Given the description of an element on the screen output the (x, y) to click on. 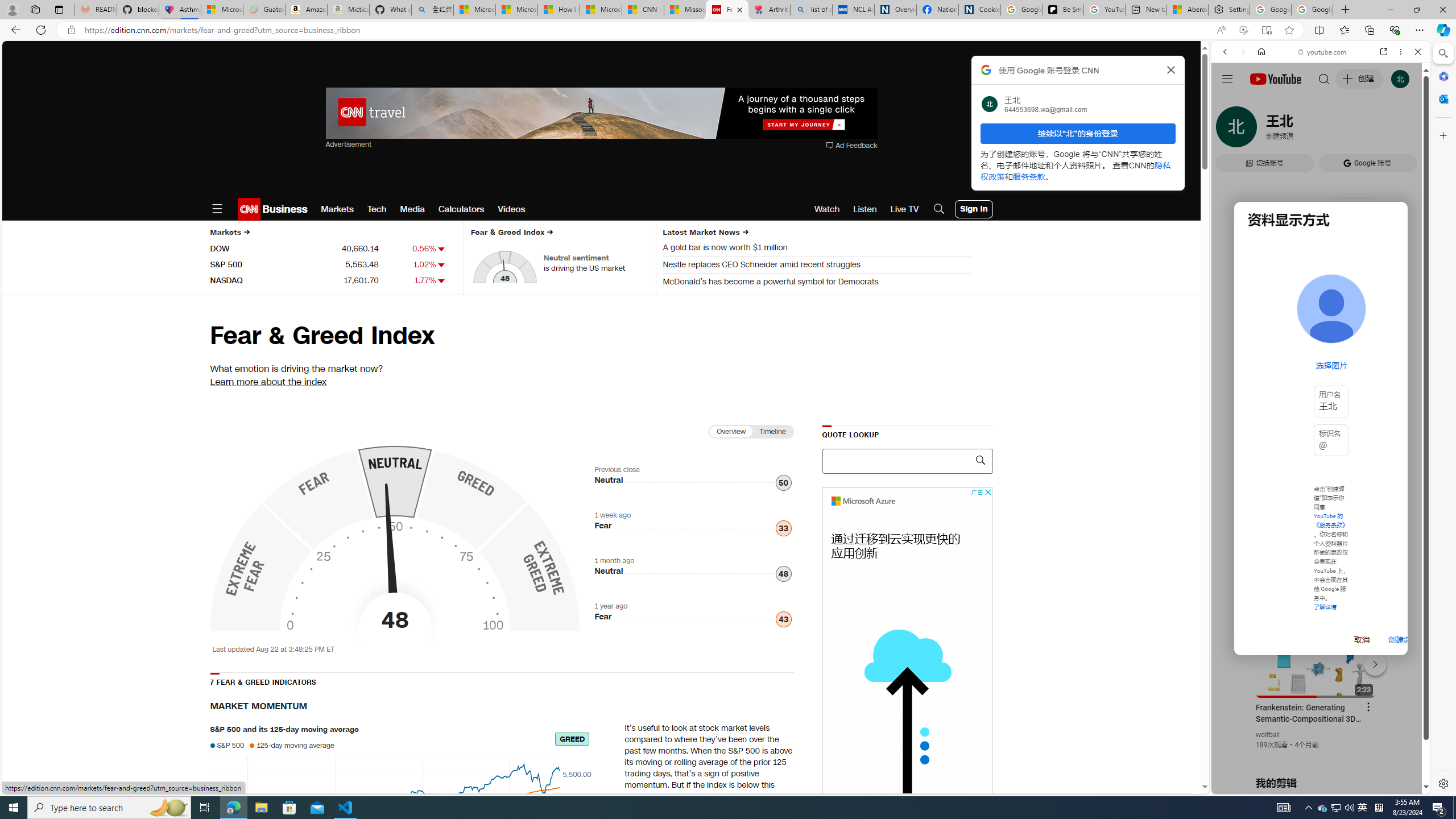
Class: b_serphb (1404, 130)
Aberdeen, Hong Kong SAR hourly forecast | Microsoft Weather (1186, 9)
Show More Music (1390, 310)
Search Filter, WEB (1230, 129)
Enter Immersive Reader (F9) (1266, 29)
